Given the description of an element on the screen output the (x, y) to click on. 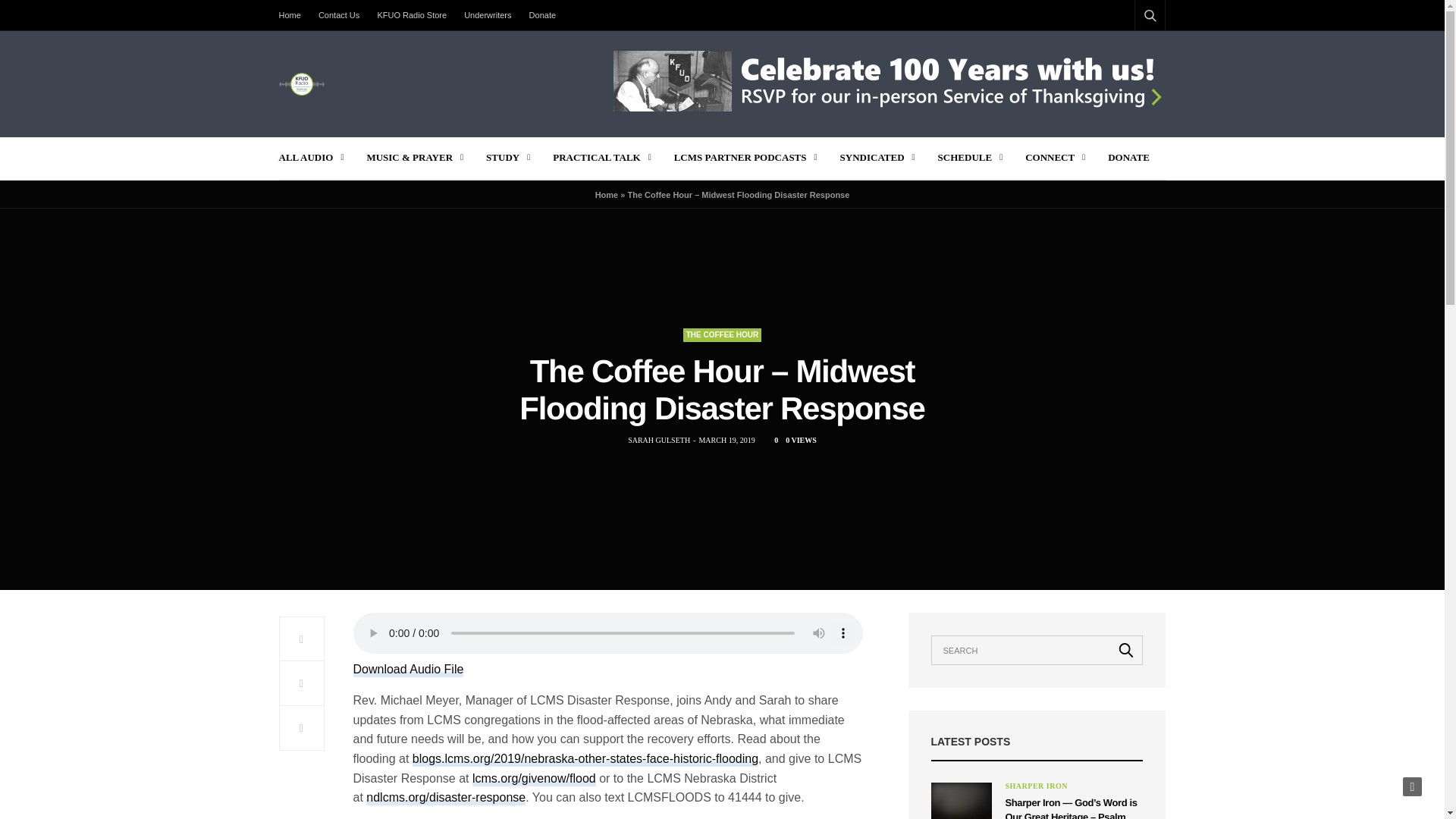
Search (1125, 649)
The Coffee Hour (721, 335)
Posts by Sarah Gulseth (658, 440)
Donate (542, 15)
ALL AUDIO (311, 157)
Home (293, 15)
Underwriters (487, 15)
Contact Us (338, 15)
KFUO Radio Store (411, 15)
Search (1129, 51)
